Given the description of an element on the screen output the (x, y) to click on. 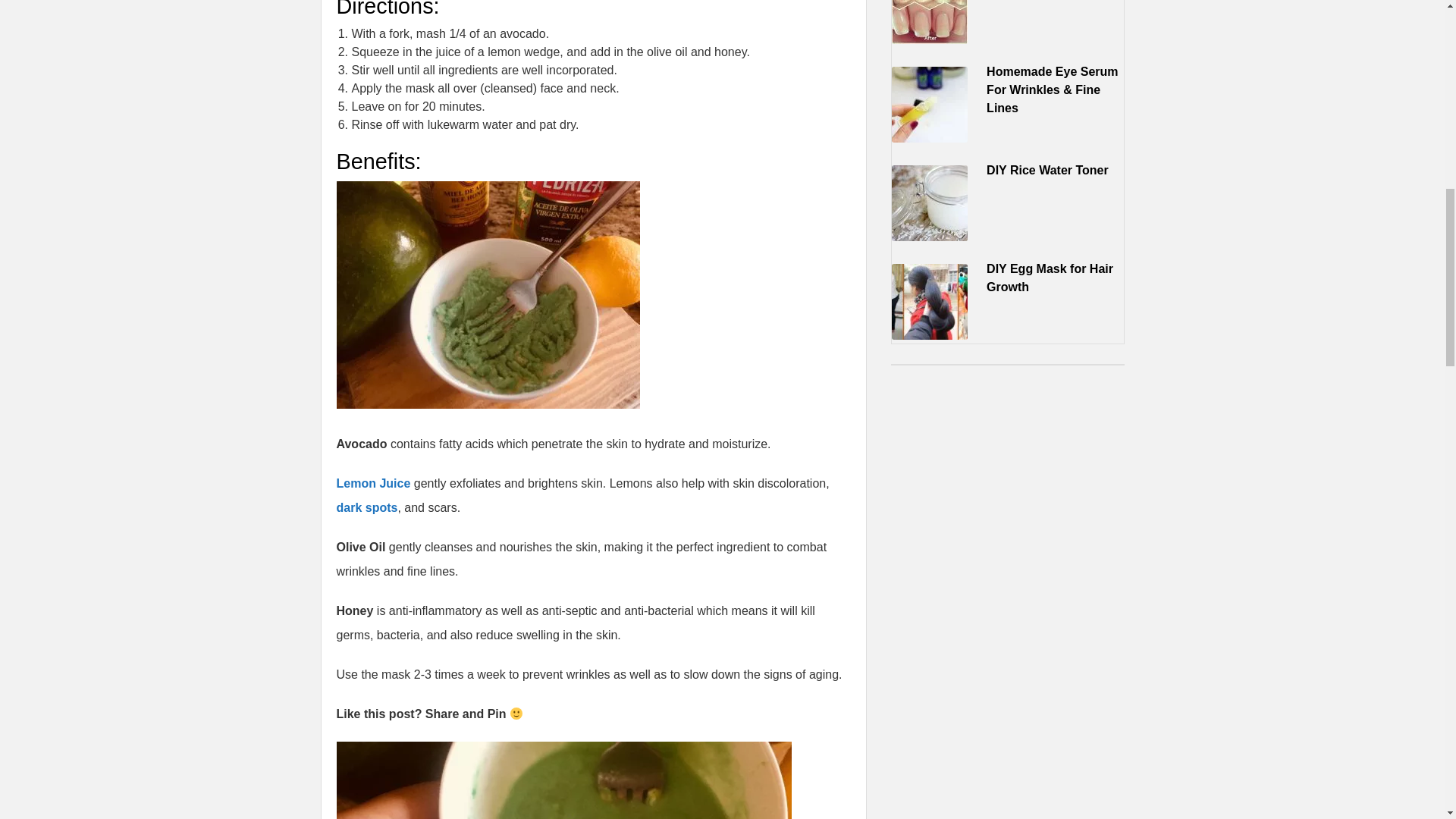
Lemon Juice (373, 482)
dark spots (366, 507)
DIY Japanese Face Mask (564, 780)
dark spots (366, 507)
Japanese Face Mask (488, 294)
lemon juice (373, 482)
